Given the description of an element on the screen output the (x, y) to click on. 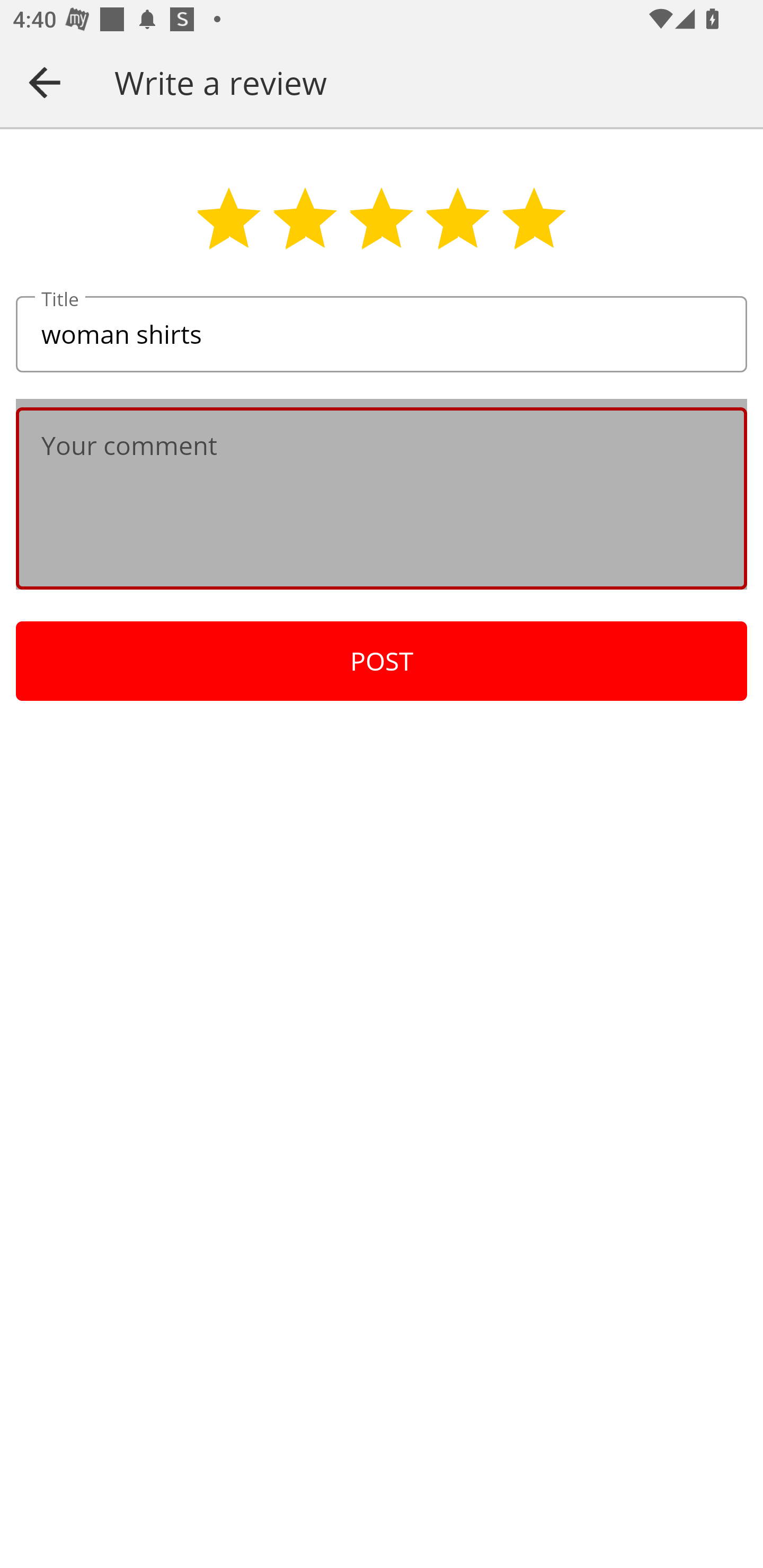
Navigate up (44, 82)
woman shirts (381, 334)
Your comment (381, 498)
POST (381, 660)
